Given the description of an element on the screen output the (x, y) to click on. 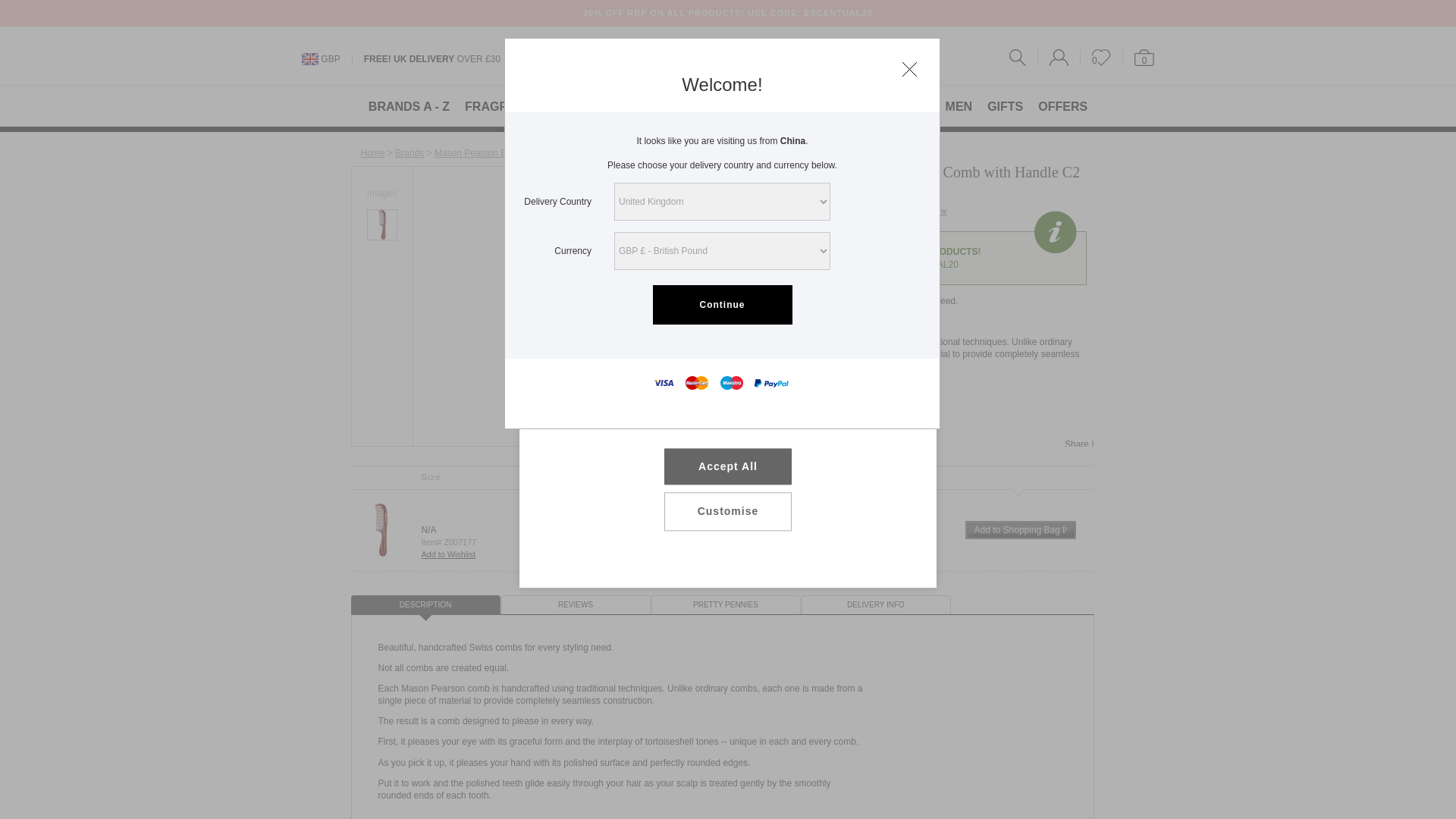
Brands A - Z (408, 153)
5 out of 5 (754, 209)
GBP (329, 59)
0 (1138, 57)
Mason Pearson Detangling Comb with Handle C2 (381, 215)
Read all reviews (841, 210)
Escentual (727, 57)
BRANDS A - Z (409, 105)
Click here to find out more about Pretty Pennies (703, 476)
Go to Home Page (373, 153)
